Given the description of an element on the screen output the (x, y) to click on. 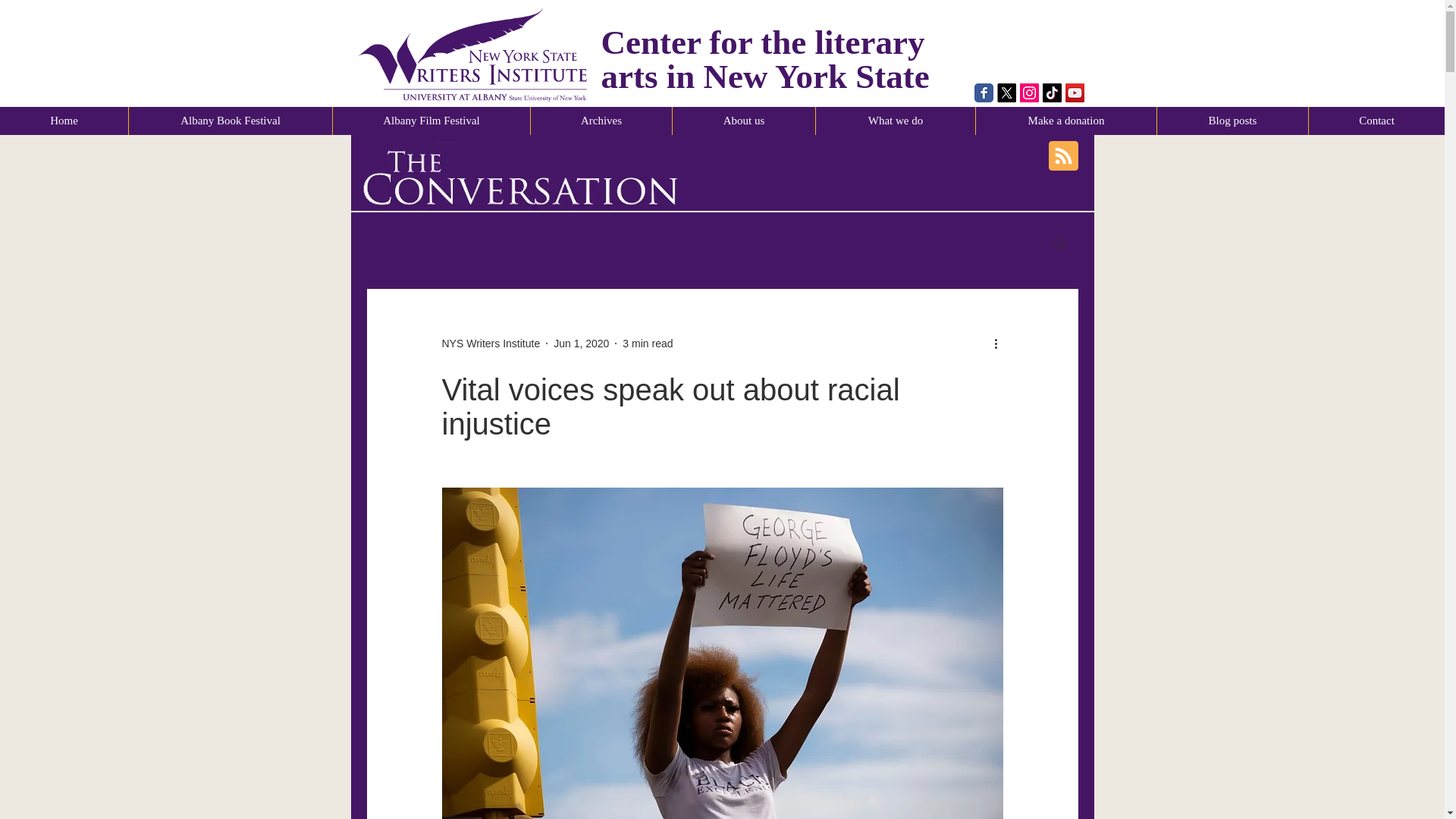
3 min read (647, 342)
Blog posts (1231, 121)
Home (64, 121)
Archives (600, 121)
Make a donation (1065, 121)
Albany Film Festival (430, 121)
NYS Writers Institute (490, 342)
Albany Book Festival (229, 121)
Jun 1, 2020 (580, 342)
